Given the description of an element on the screen output the (x, y) to click on. 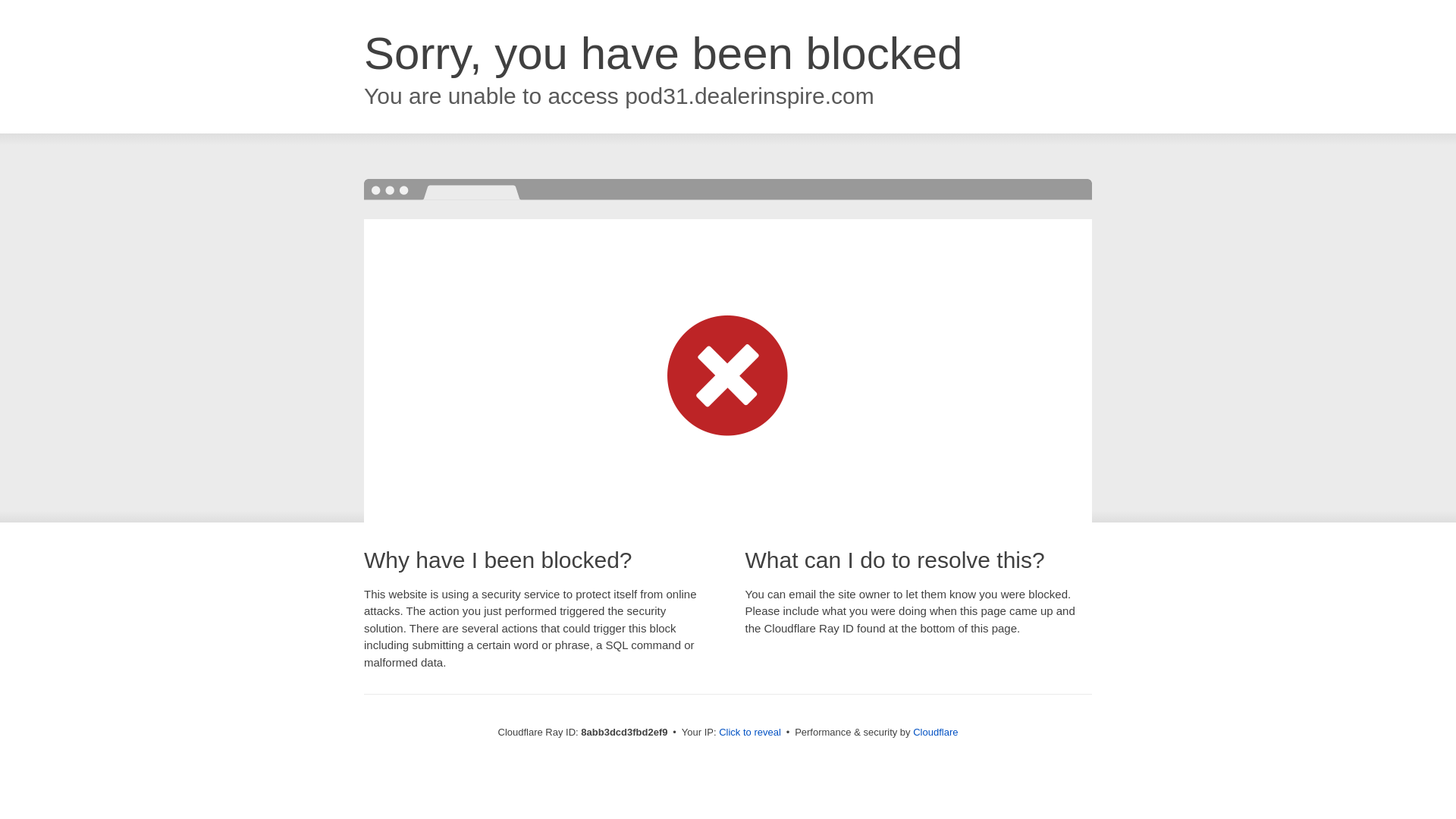
Click to reveal (749, 732)
Cloudflare (935, 731)
